Given the description of an element on the screen output the (x, y) to click on. 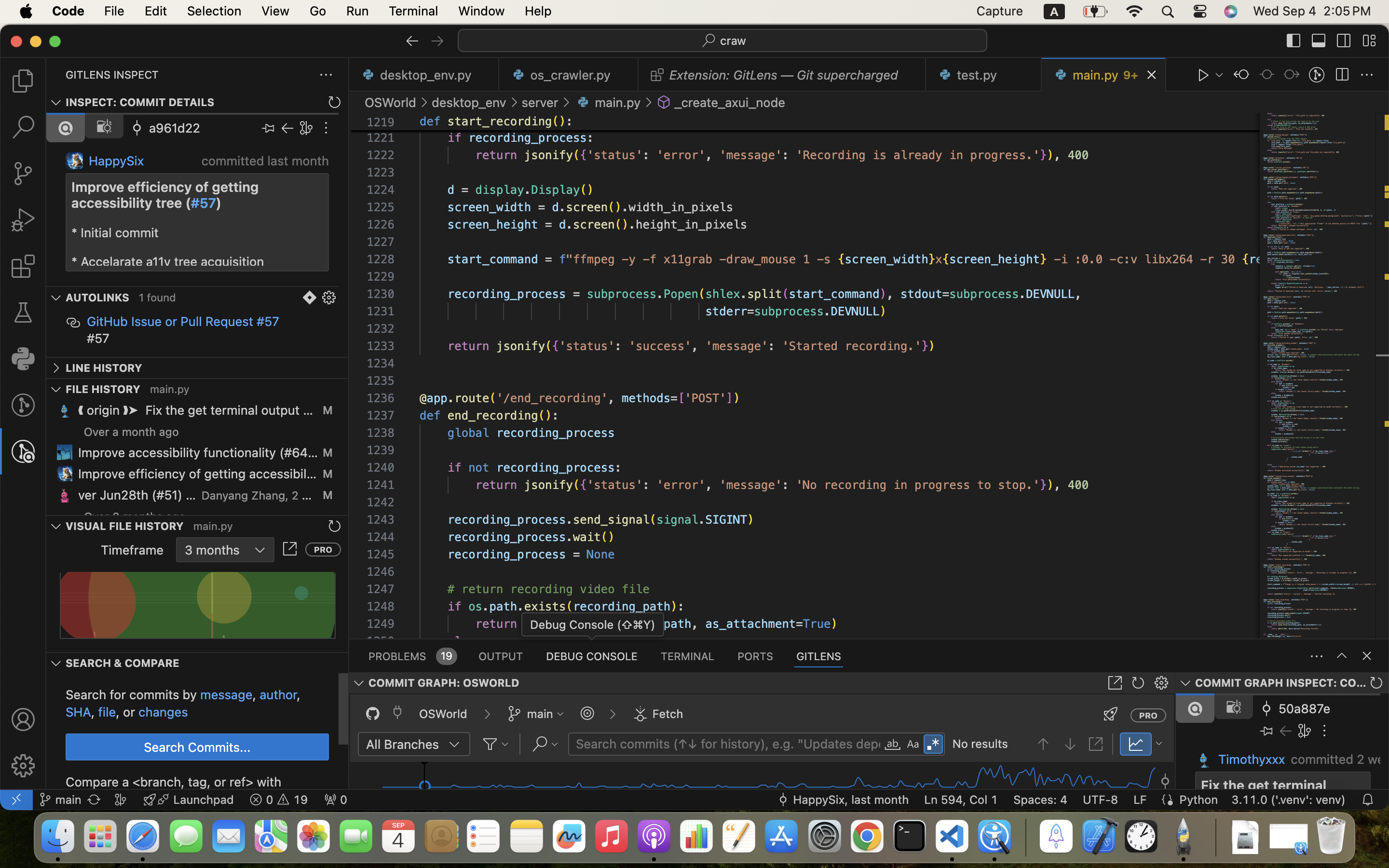
0 test.py   Element type: AXRadioButton (983, 74)
main  Element type: AXButton (59, 799)
INSPECT: COMMIT DETAILS Element type: AXStaticText (140, 102)
 Element type: AXButton (437, 40)
 Element type: AXStaticText (306, 127)
